Given the description of an element on the screen output the (x, y) to click on. 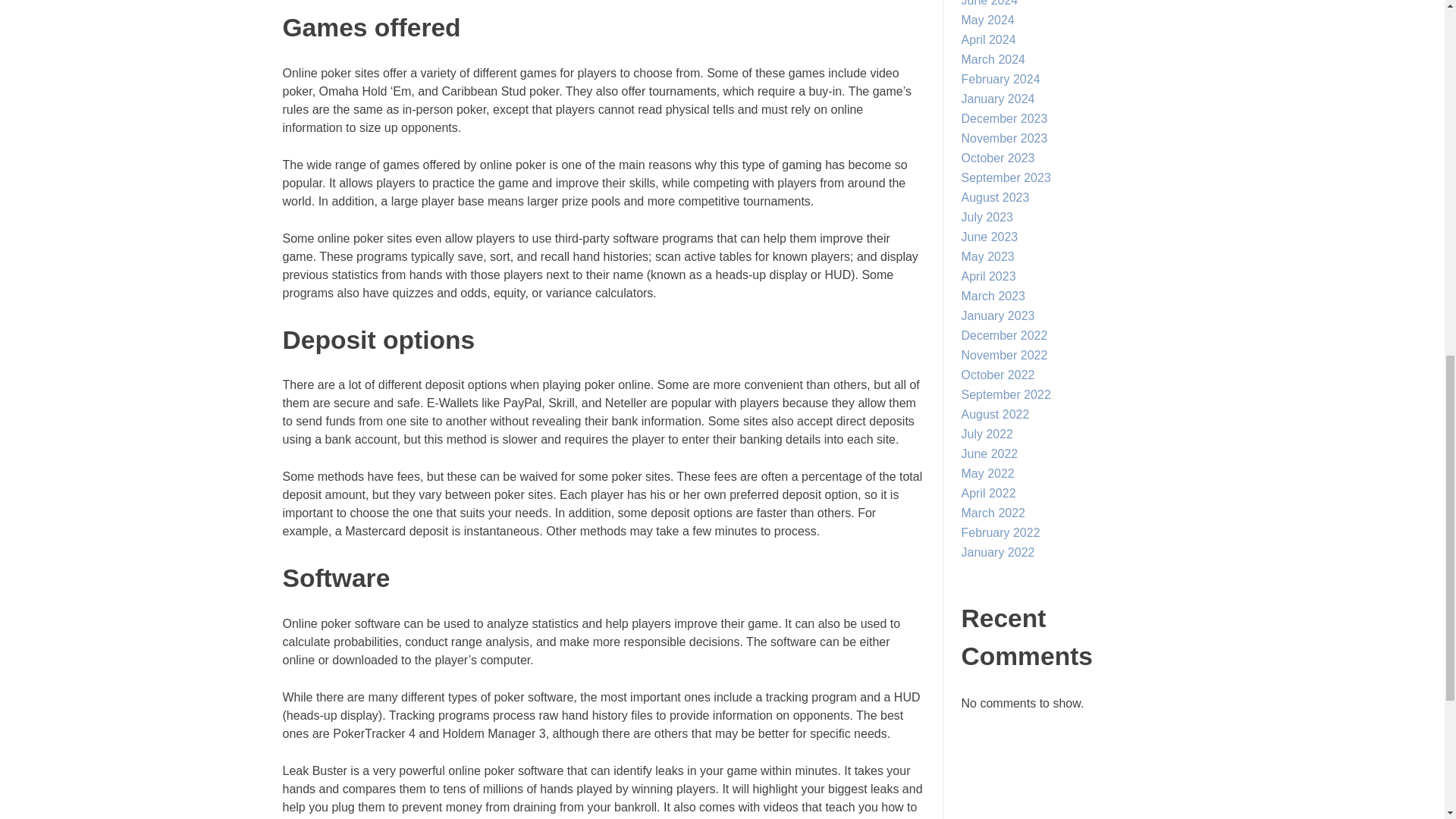
October 2022 (997, 374)
January 2024 (997, 98)
March 2024 (993, 59)
June 2023 (988, 236)
September 2023 (1005, 177)
May 2024 (987, 19)
March 2023 (993, 295)
October 2023 (997, 157)
January 2023 (997, 315)
November 2023 (1004, 137)
December 2023 (1004, 118)
May 2023 (987, 256)
April 2023 (988, 276)
February 2024 (1000, 78)
June 2024 (988, 3)
